Given the description of an element on the screen output the (x, y) to click on. 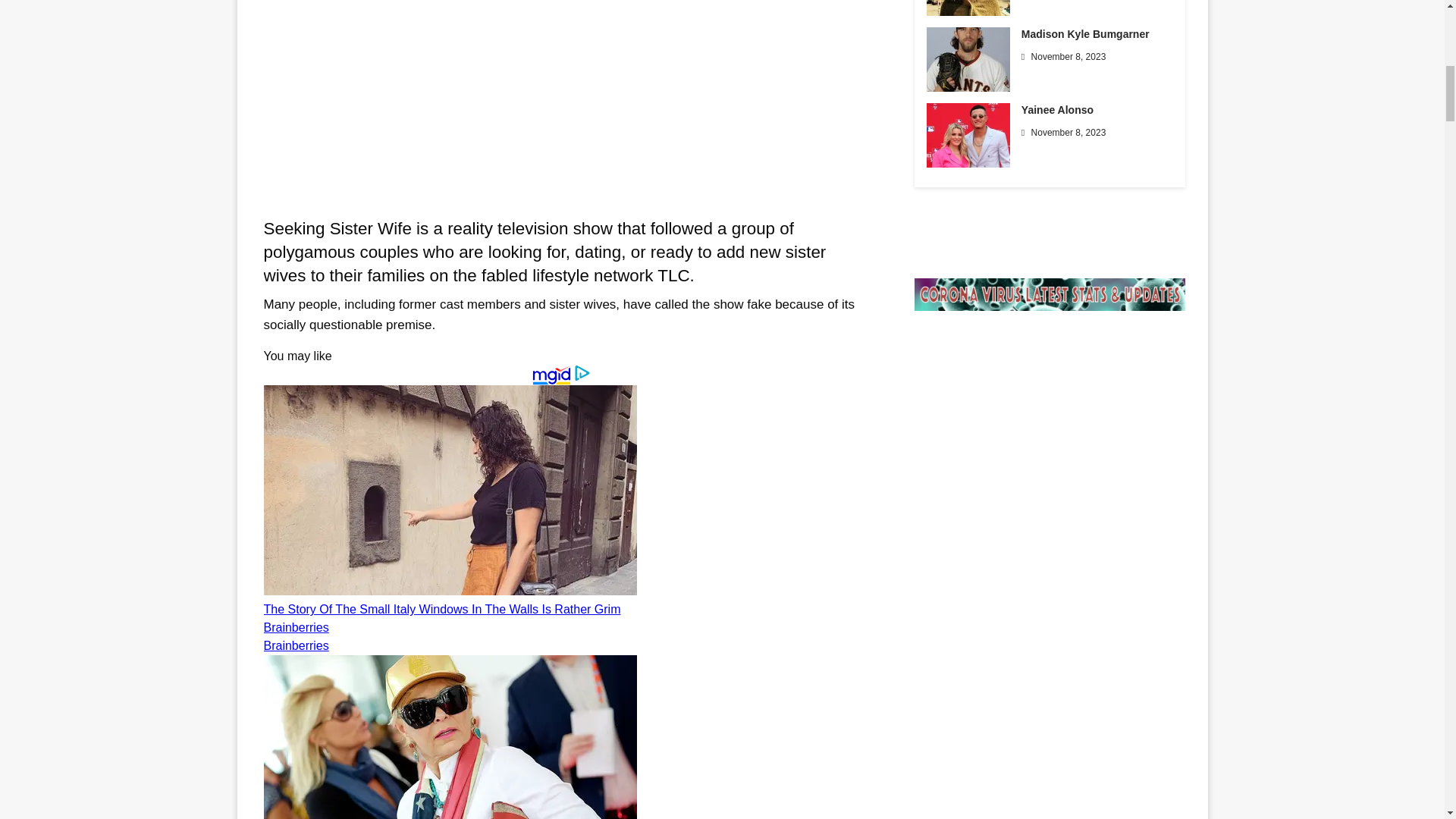
Advertisement (560, 105)
